Given the description of an element on the screen output the (x, y) to click on. 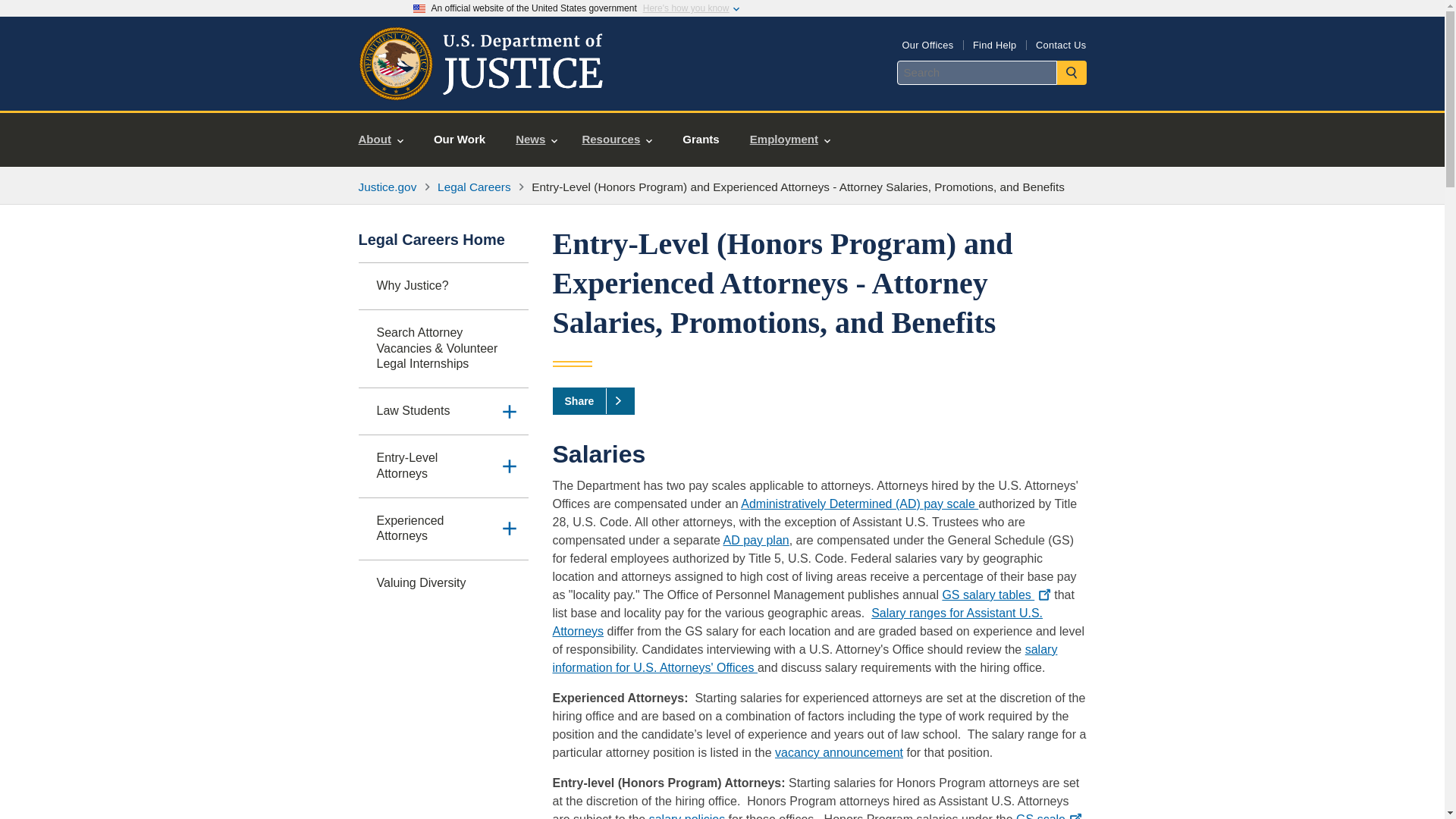
AD pay plan (756, 540)
salary information for U.S. Attorneys' Offices  (804, 658)
Our Offices (927, 44)
Resources (616, 140)
Contact Us (1060, 44)
Justice.gov (387, 186)
Grants (699, 140)
About (380, 140)
Legal Careers Home (442, 245)
vacancy announcement (838, 752)
